Given the description of an element on the screen output the (x, y) to click on. 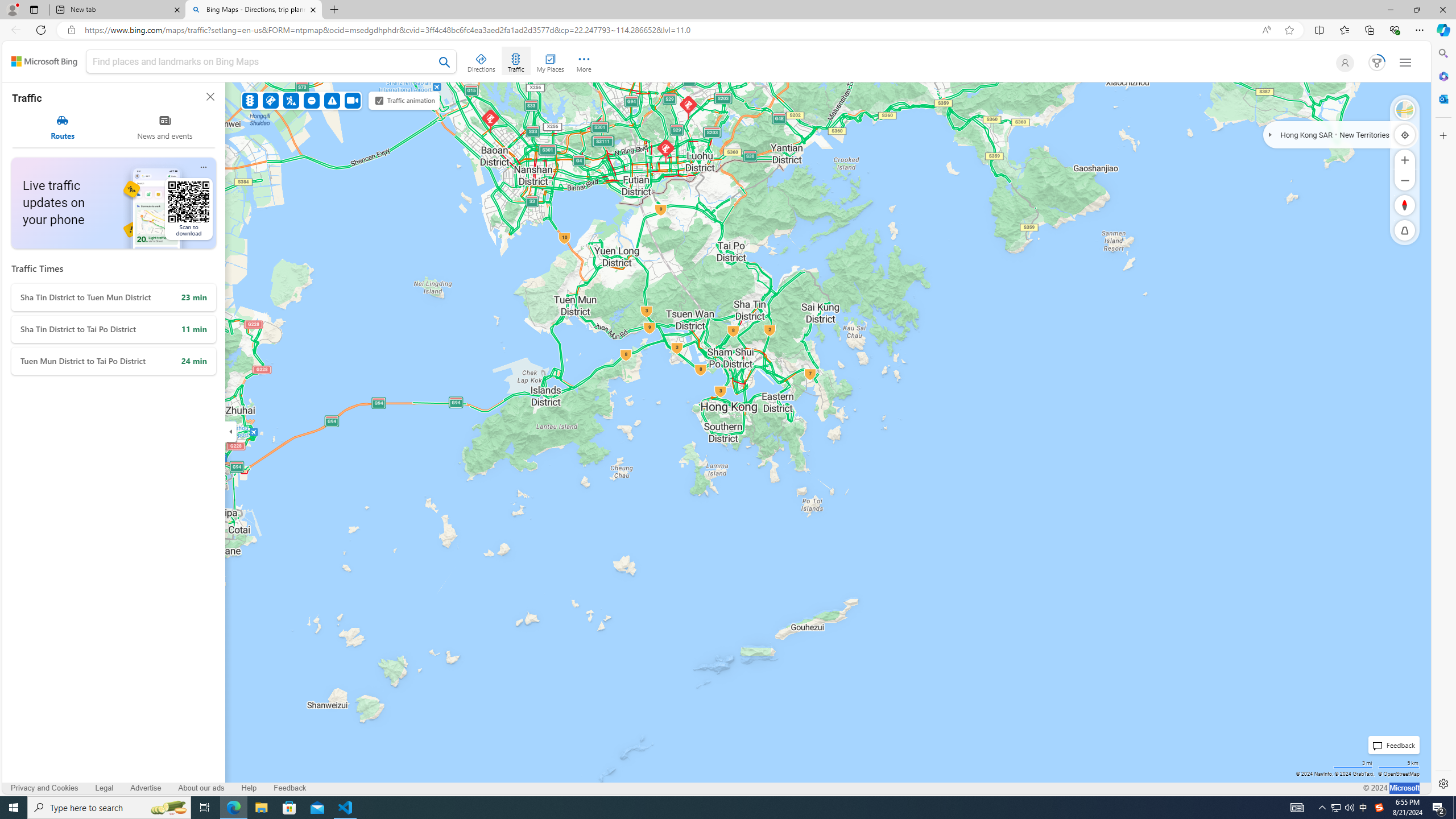
Add a search (263, 60)
Settings and quick links (1404, 62)
Bird's eye (1404, 109)
Live traffic updates on your phone Scan to download (113, 202)
Zoom In (1404, 159)
Miscellaneous incidents (332, 100)
Traffic (249, 100)
More (583, 60)
Sha Tin District to Tai Po District (113, 329)
